Given the description of an element on the screen output the (x, y) to click on. 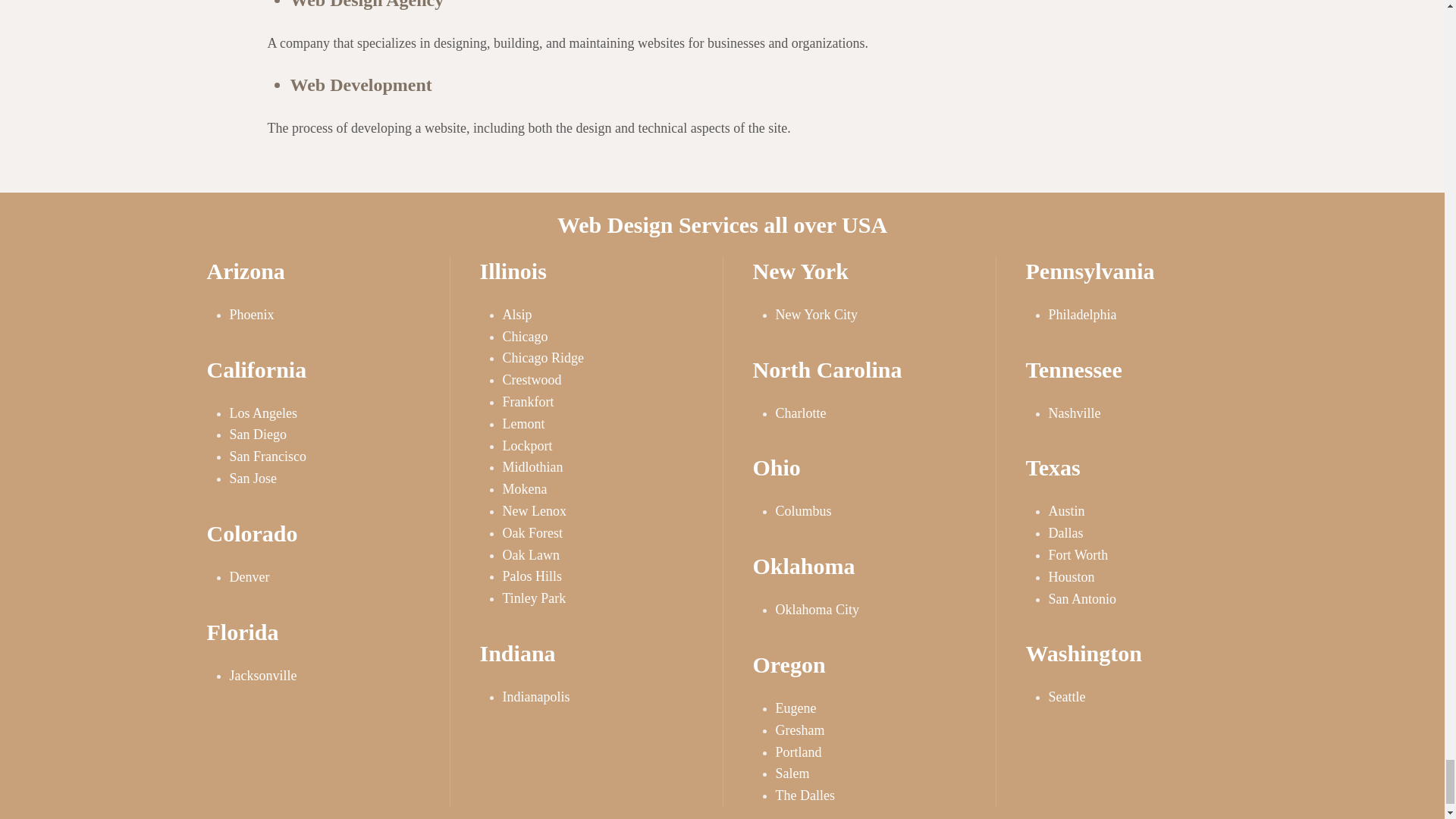
Denver (248, 576)
San Francisco (266, 456)
San Diego (257, 434)
San Jose (252, 478)
Phoenix (250, 314)
Los Angeles (262, 412)
